Given the description of an element on the screen output the (x, y) to click on. 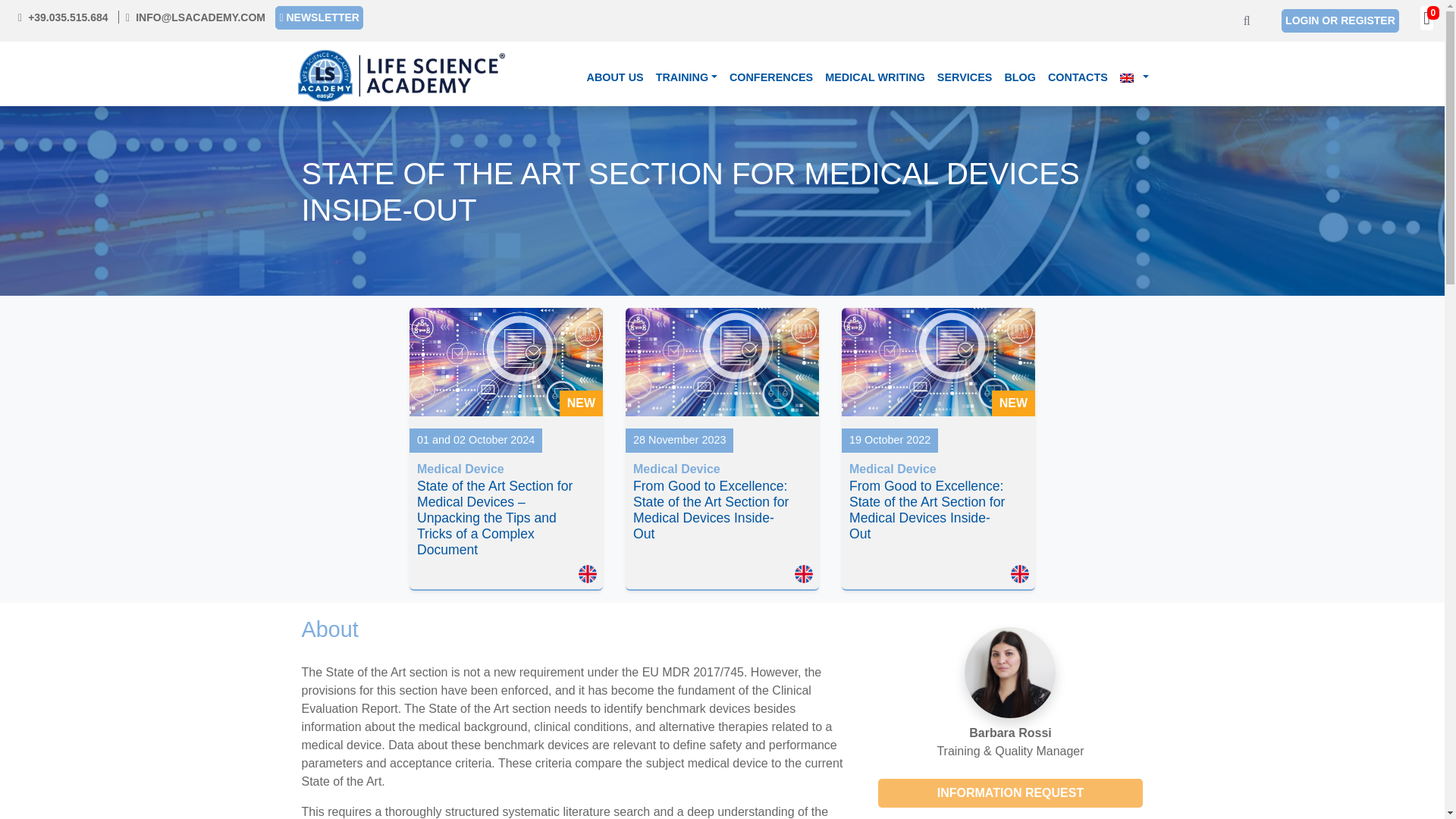
INFORMATION REQUEST (1009, 792)
CONFERENCES (770, 77)
TRAINING (686, 77)
LOGIN OR REGISTER (1340, 20)
CONTACTS (1077, 77)
SERVICES (964, 77)
0 (1426, 19)
 NEWSLETTER (318, 17)
BLOG (1019, 77)
ABOUT US (614, 77)
MEDICAL WRITING (874, 77)
